Given the description of an element on the screen output the (x, y) to click on. 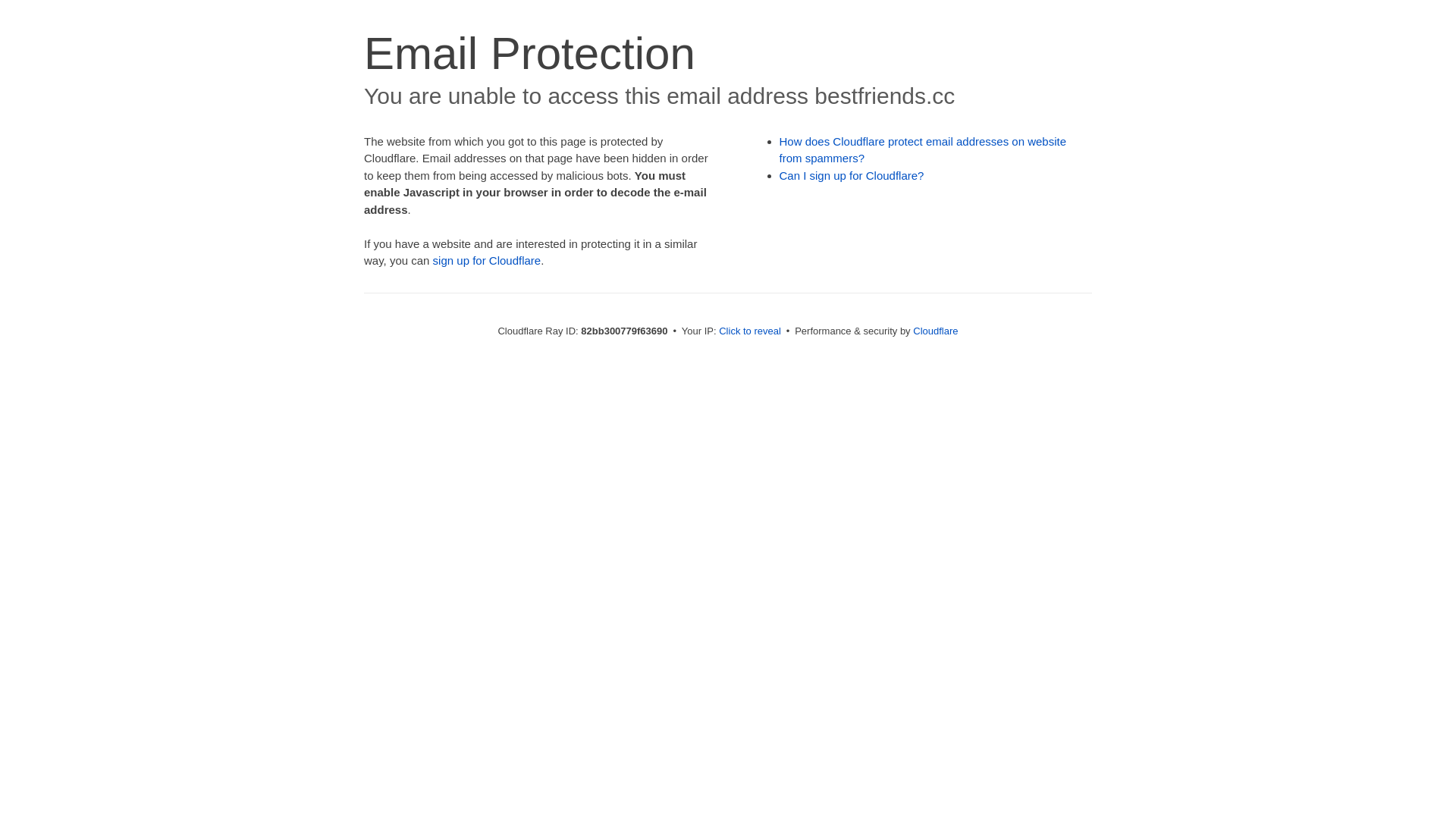
Can I sign up for Cloudflare? Element type: text (851, 175)
Click to reveal Element type: text (749, 330)
Cloudflare Element type: text (935, 330)
sign up for Cloudflare Element type: text (487, 260)
